Given the description of an element on the screen output the (x, y) to click on. 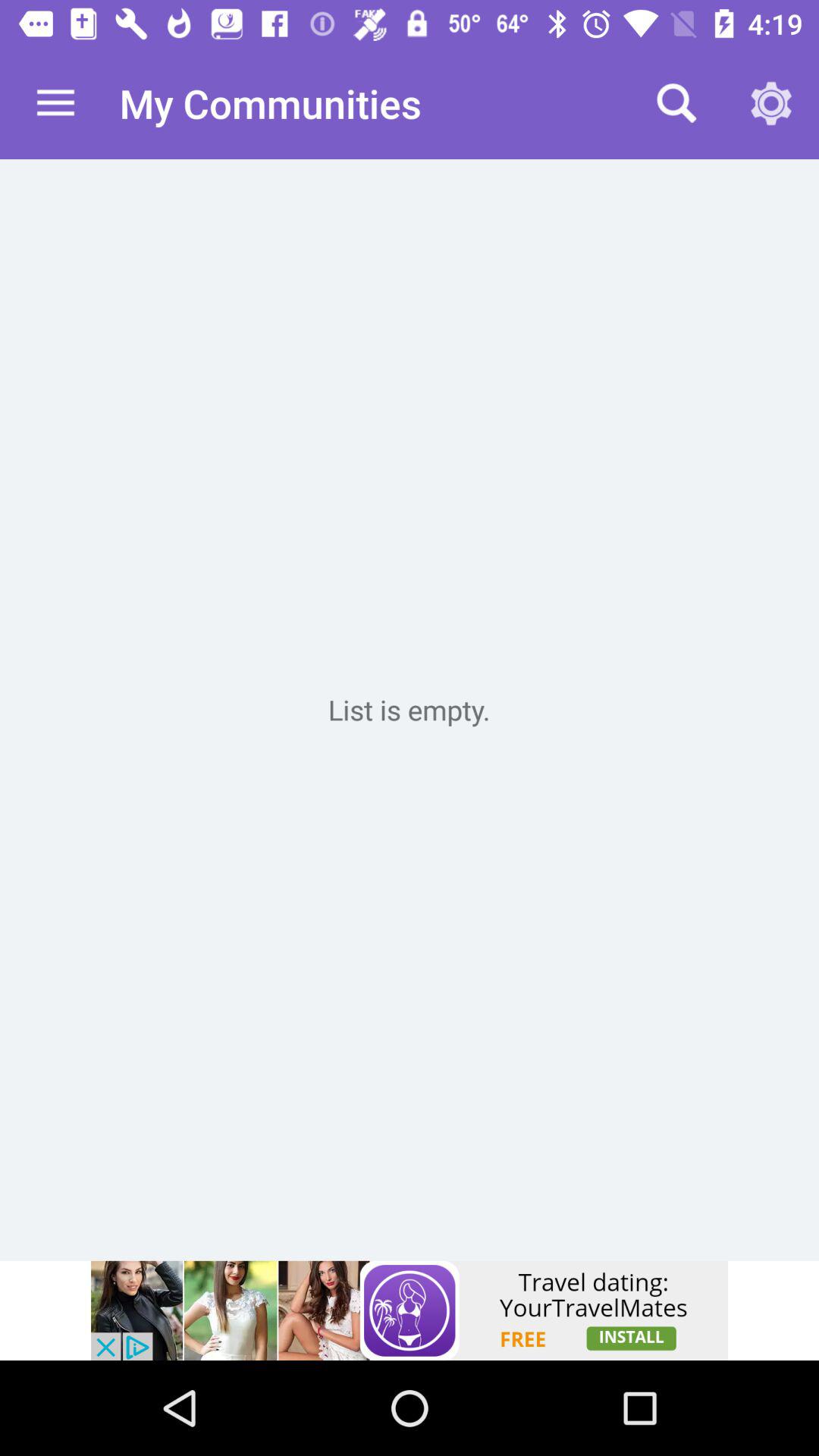
menu page (409, 709)
